Given the description of an element on the screen output the (x, y) to click on. 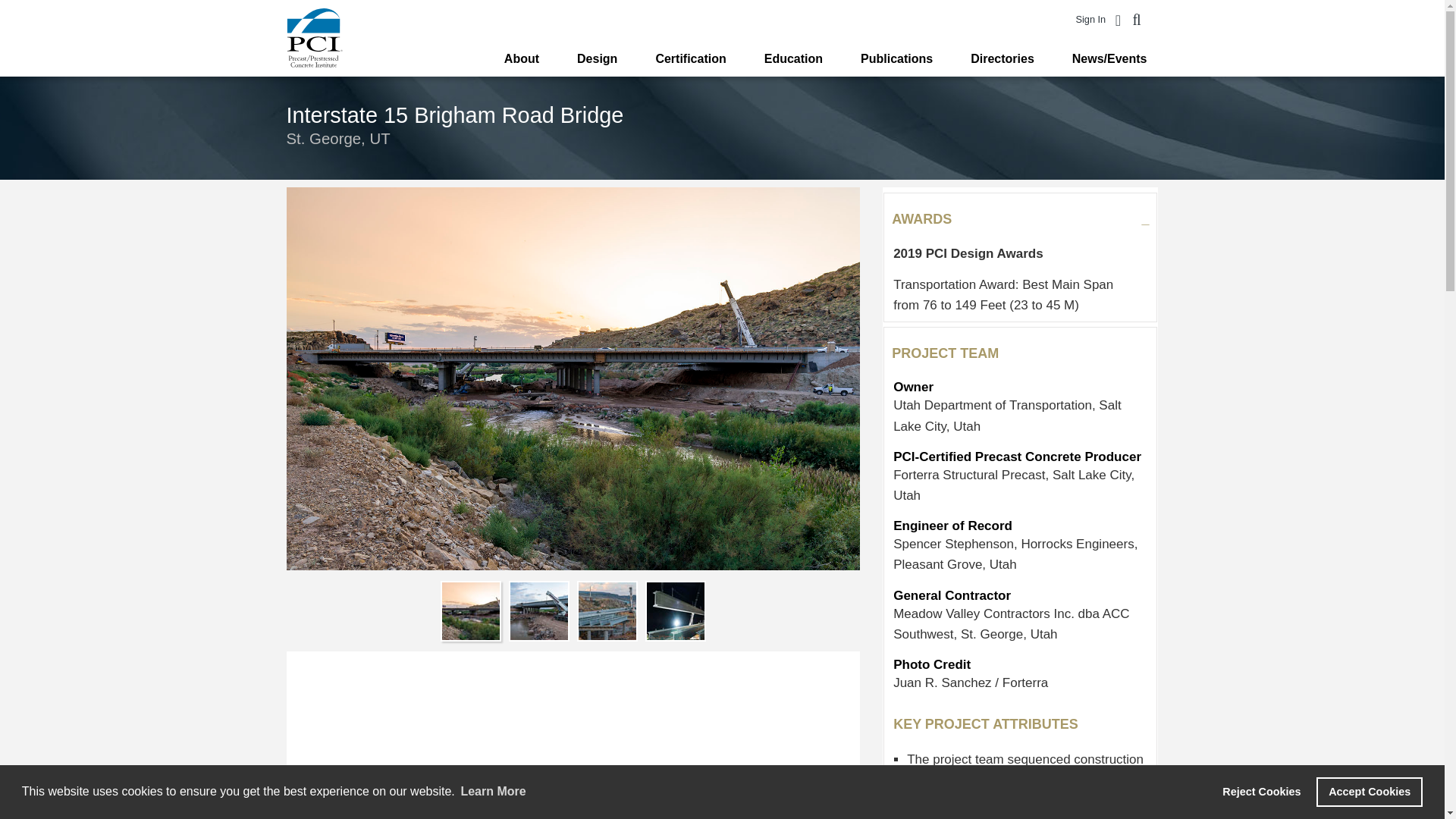
Home (314, 37)
Reject Cookies (1261, 791)
About (521, 58)
Directories (1002, 58)
Publications (895, 58)
Accept Cookies (1369, 791)
PCI (314, 37)
Sign In (1090, 19)
Design (597, 58)
Certification (689, 58)
Learn More (493, 791)
Education (793, 58)
